Given the description of an element on the screen output the (x, y) to click on. 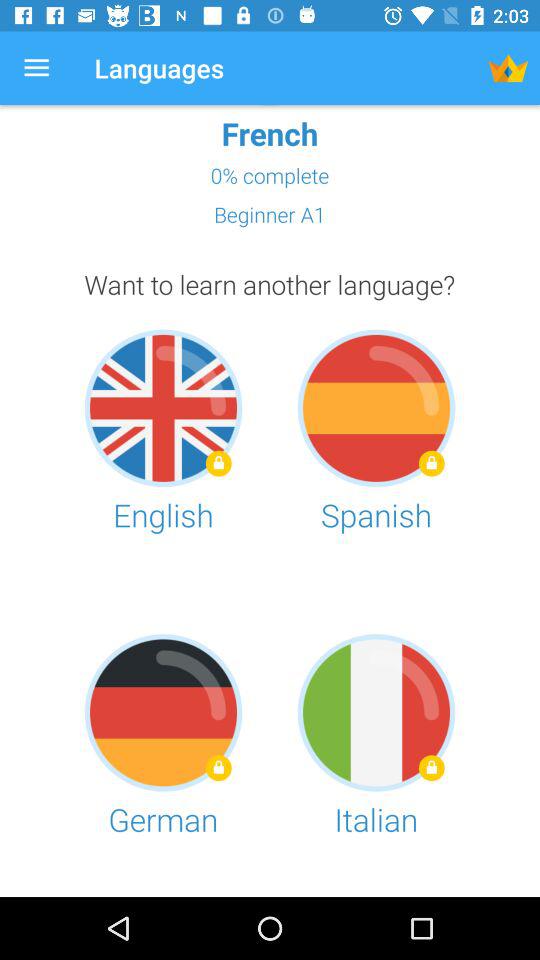
press app next to the languages item (508, 67)
